Given the description of an element on the screen output the (x, y) to click on. 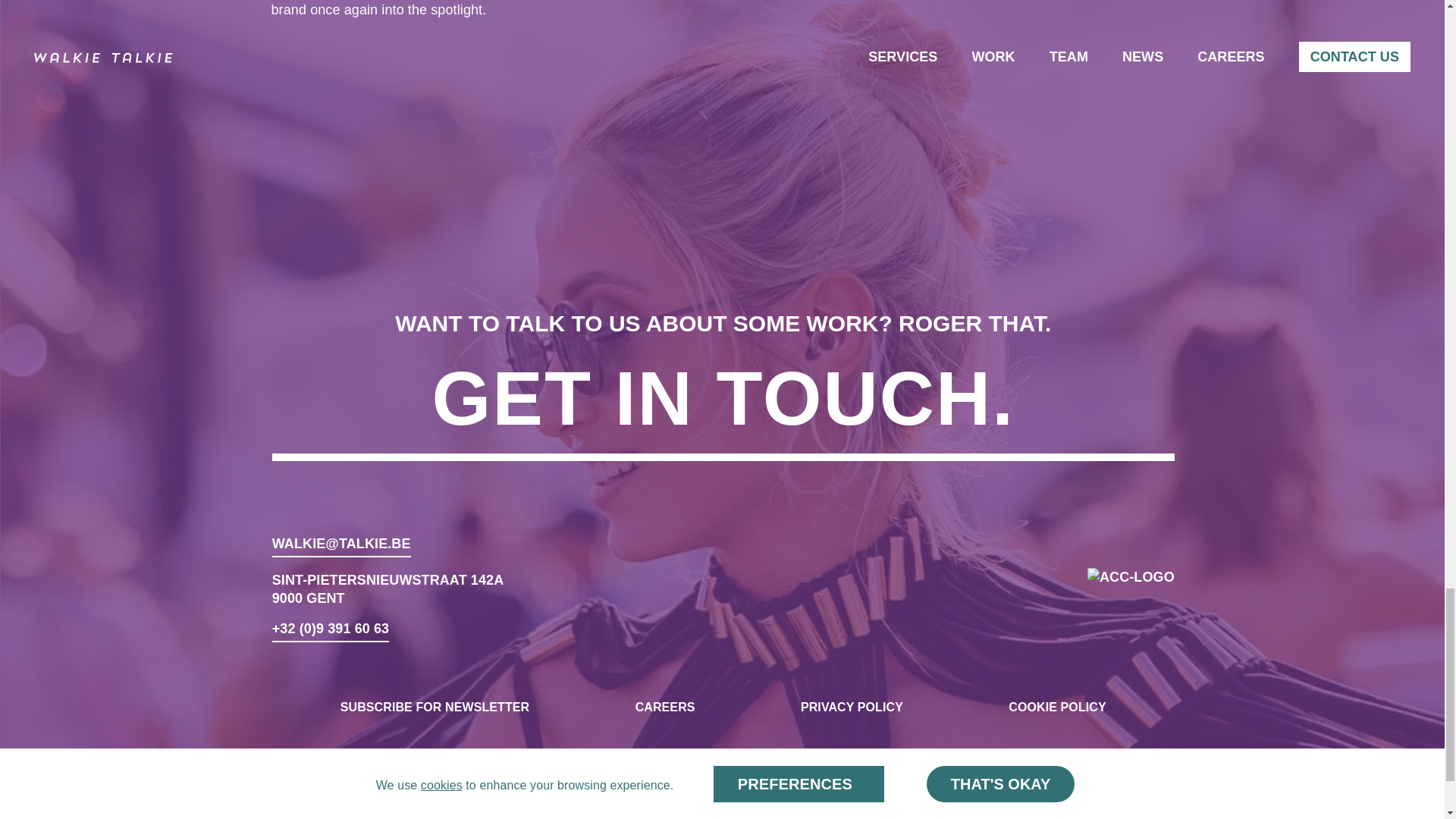
COOKIE POLICY (1057, 706)
GET IN TOUCH. (723, 406)
CAREERS (664, 706)
SUBSCRIBE FOR NEWSLETTER (434, 706)
PRIVACY POLICY (851, 706)
